Given the description of an element on the screen output the (x, y) to click on. 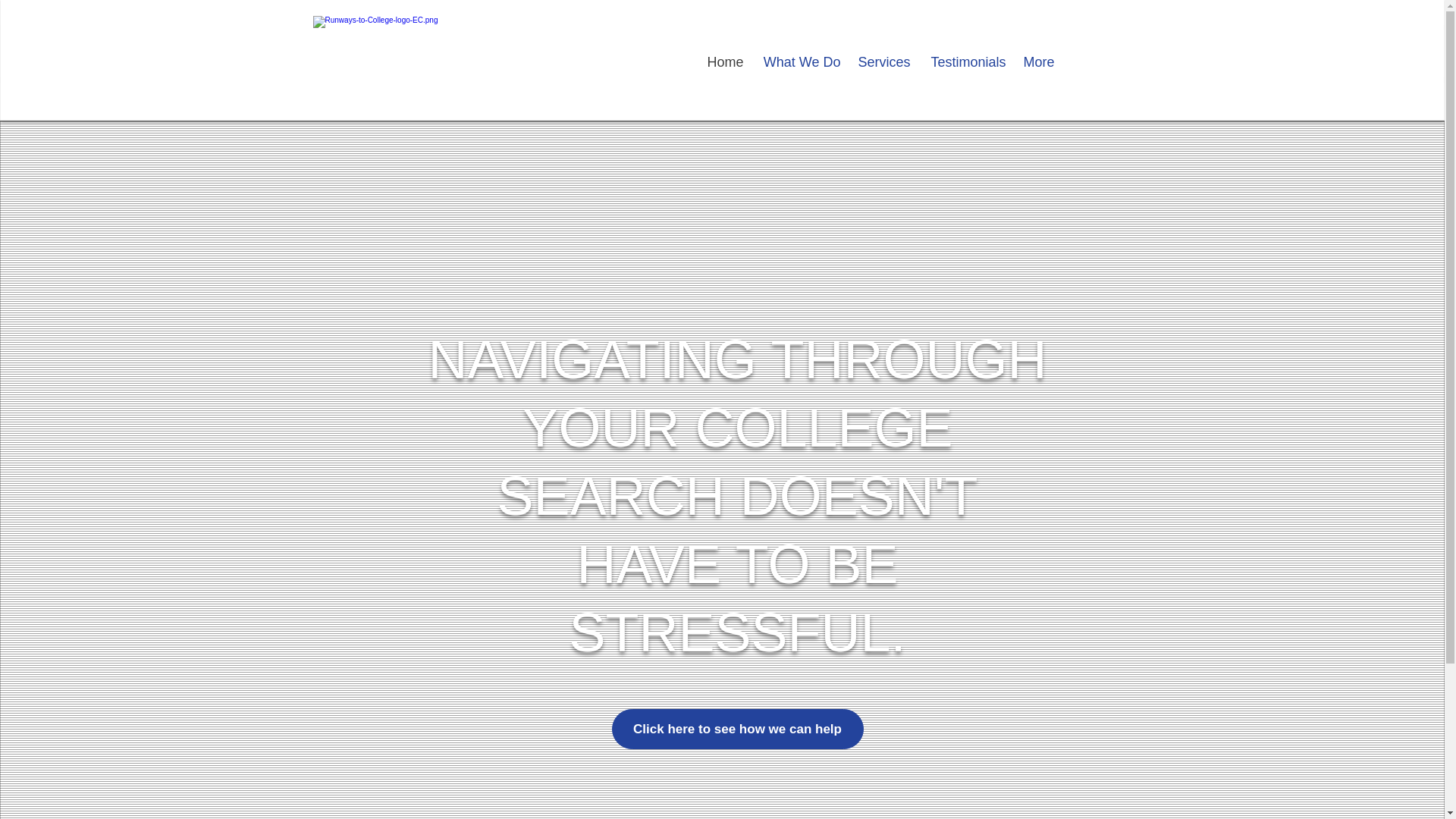
Testimonials (965, 61)
Home (723, 61)
Click here to see how we can help (737, 729)
Services (882, 61)
What We Do (799, 61)
